Given the description of an element on the screen output the (x, y) to click on. 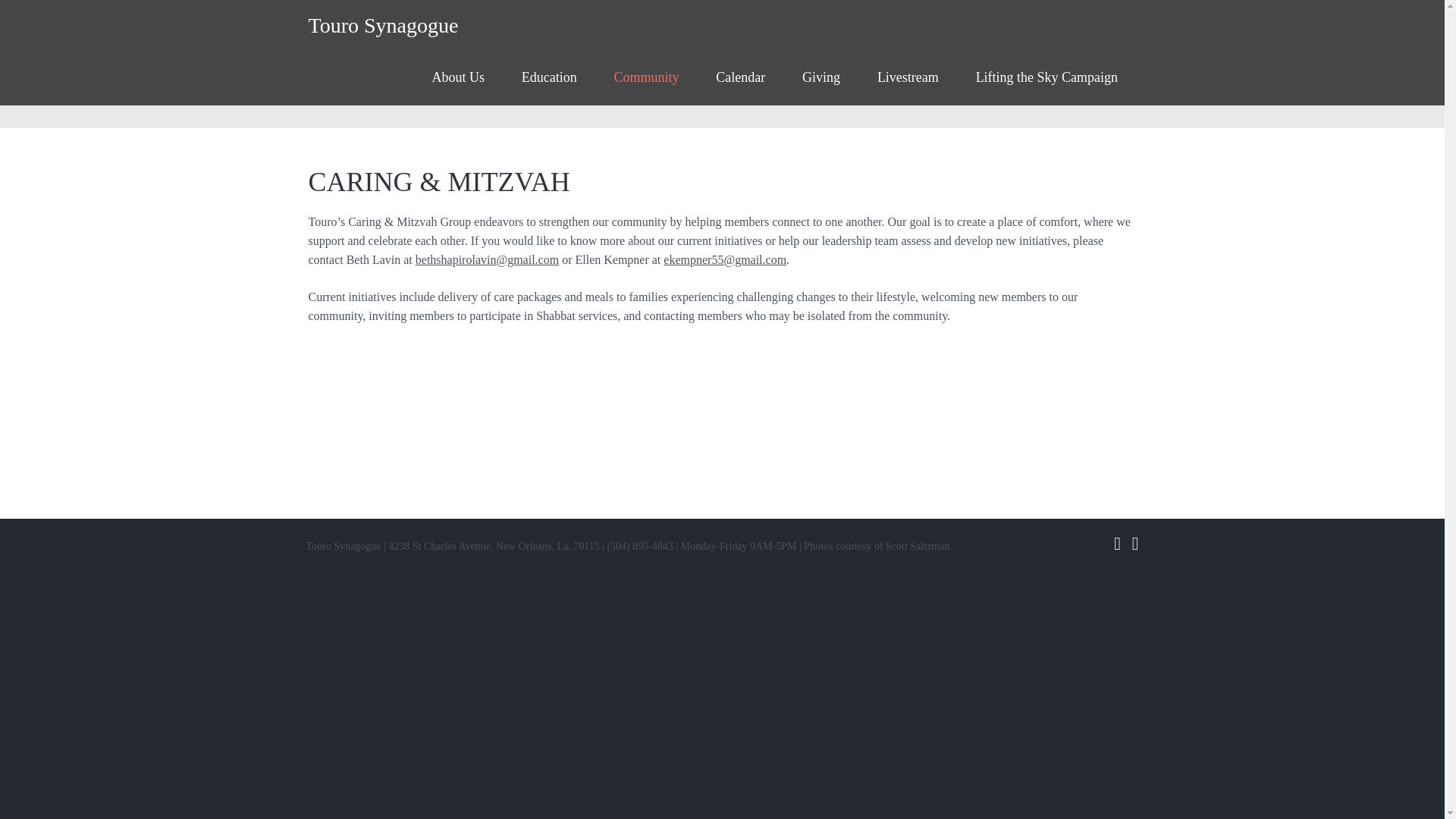
Community (646, 77)
Giving (821, 77)
Touro Synagogue (382, 25)
Calendar (739, 77)
Education (549, 77)
About Us (457, 77)
